Given the description of an element on the screen output the (x, y) to click on. 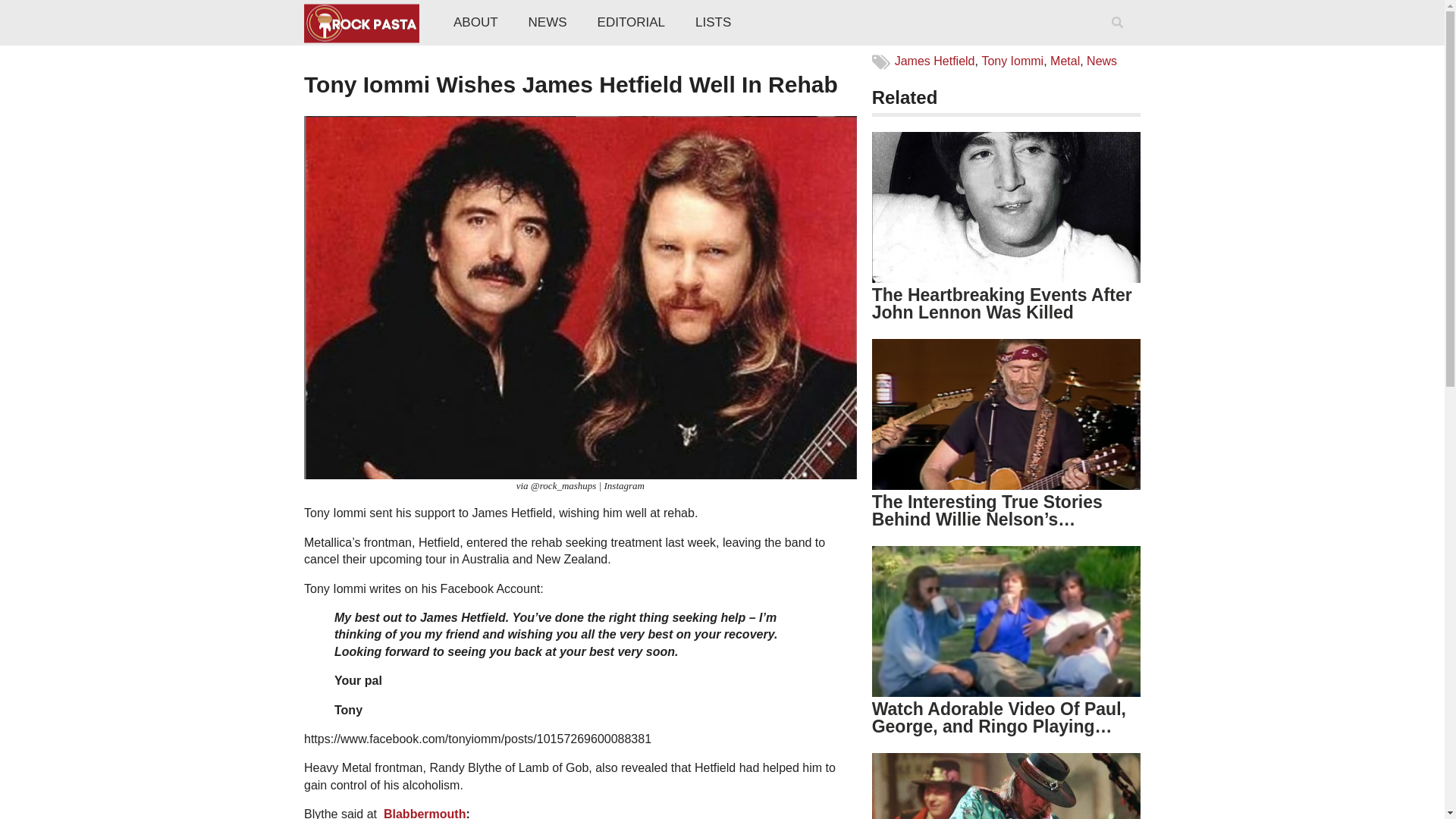
ABOUT (475, 22)
LISTS (712, 22)
Tony Iommi (1012, 60)
Search (1120, 42)
Metal (1064, 60)
Blabbermouth (424, 813)
News (1101, 60)
Search (1120, 42)
The Heartbreaking Events After John Lennon Was Killed (1002, 303)
NEWS (547, 22)
